Given the description of an element on the screen output the (x, y) to click on. 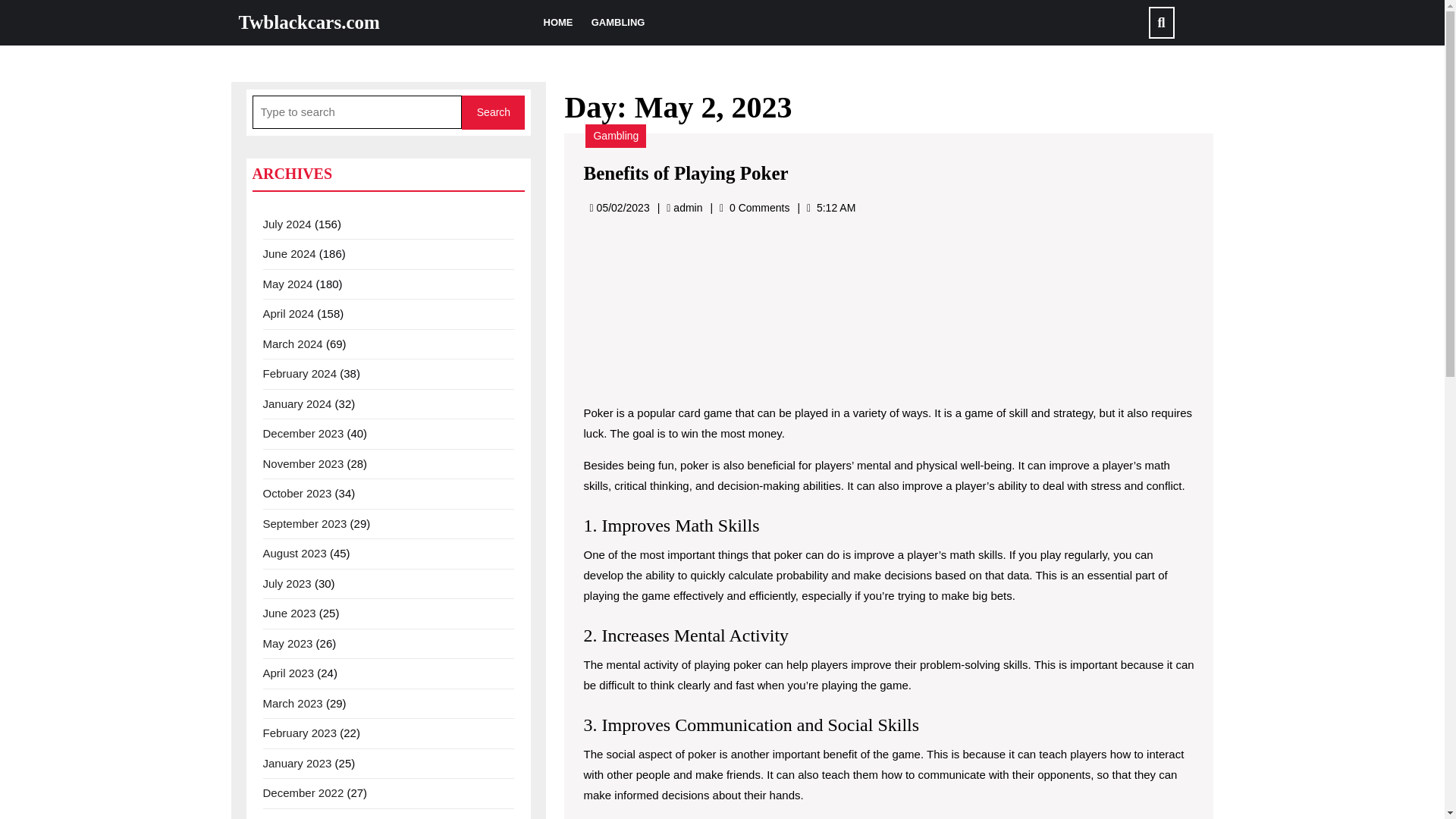
October 2023 (296, 492)
February 2024 (299, 373)
May 2024 (287, 283)
December 2023 (302, 432)
March 2023 (291, 702)
April 2023 (288, 672)
April 2024 (288, 313)
GAMBLING (618, 22)
Search (492, 112)
May 2023 (287, 643)
July 2024 (286, 223)
January 2023 (296, 762)
July 2023 (286, 582)
January 2024 (296, 403)
Search (492, 112)
